Given the description of an element on the screen output the (x, y) to click on. 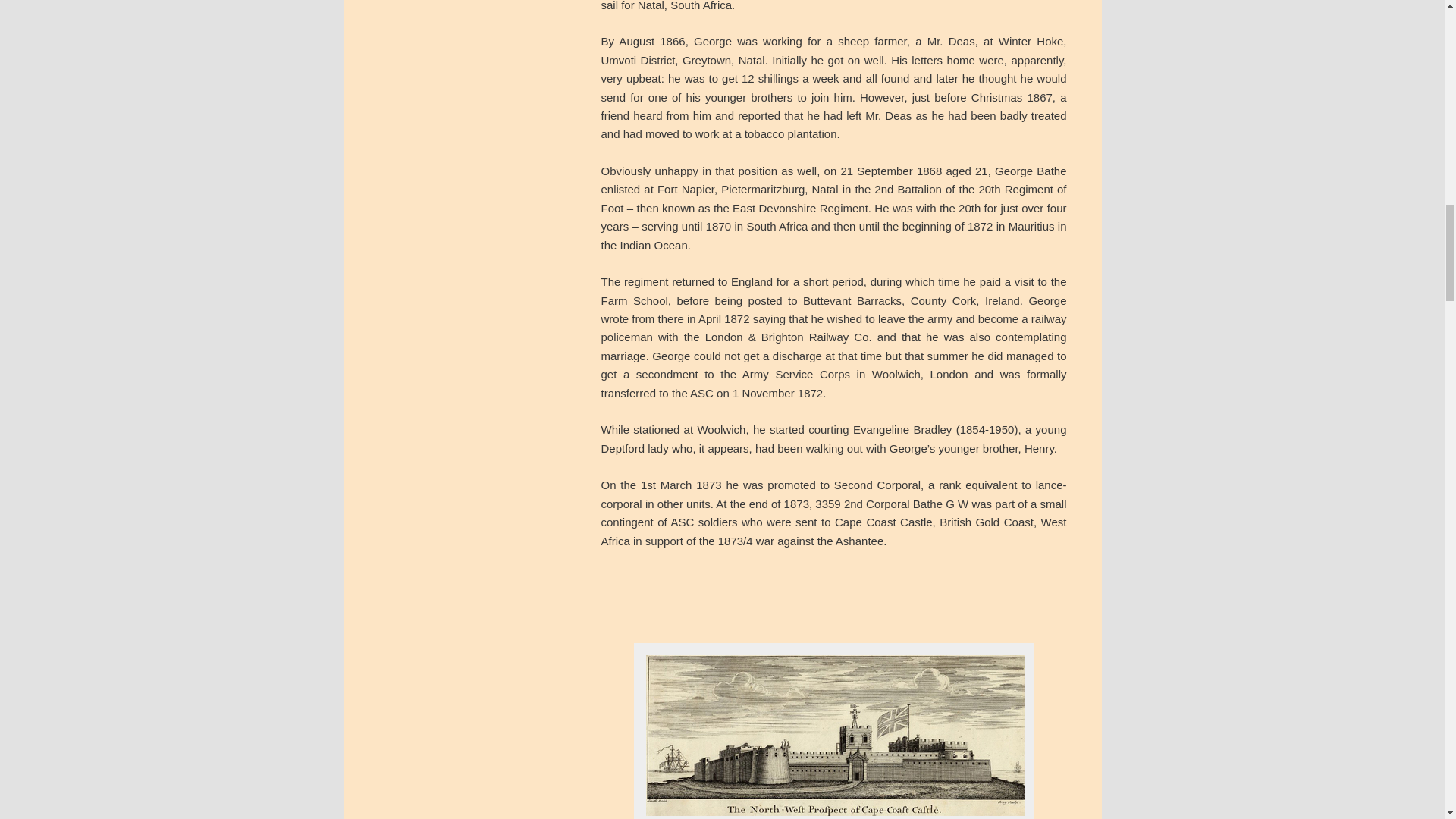
Bathe, G W Cape Coast Castle (834, 734)
